Given the description of an element on the screen output the (x, y) to click on. 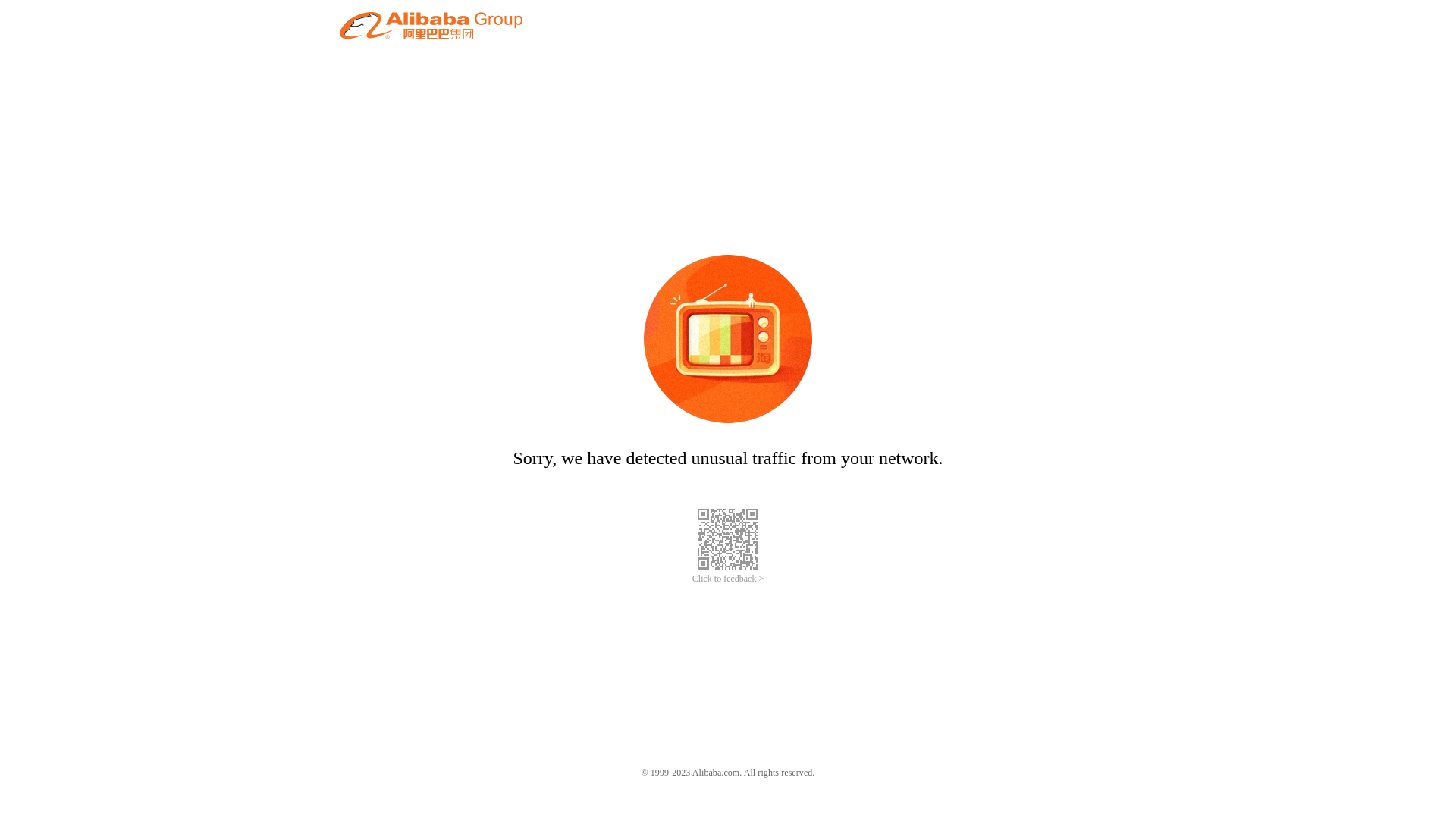
Click to feedback > Element type: text (727, 578)
